Given the description of an element on the screen output the (x, y) to click on. 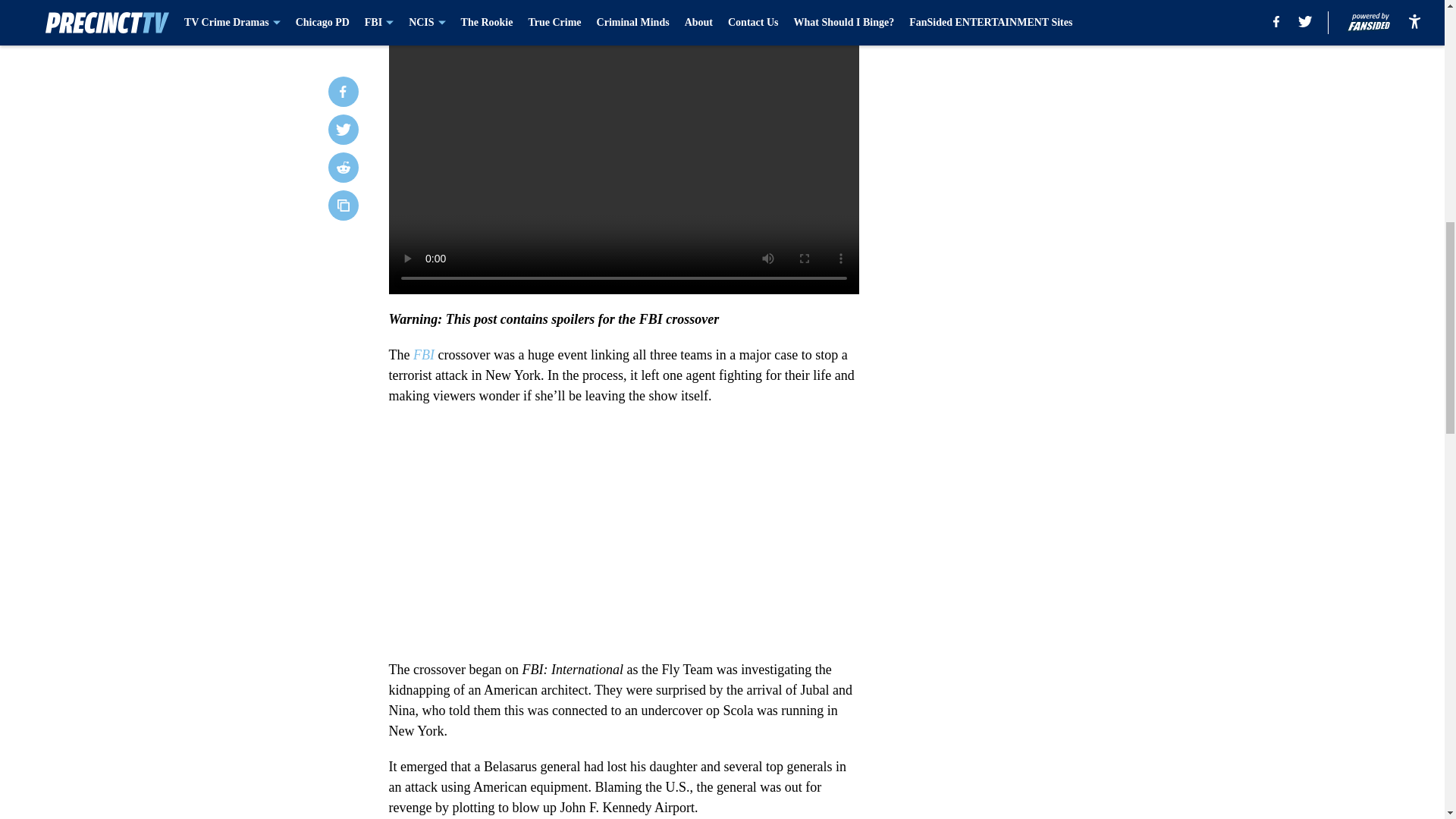
3rd party ad content (1047, 344)
FBI (423, 354)
3rd party ad content (1047, 125)
